Given the description of an element on the screen output the (x, y) to click on. 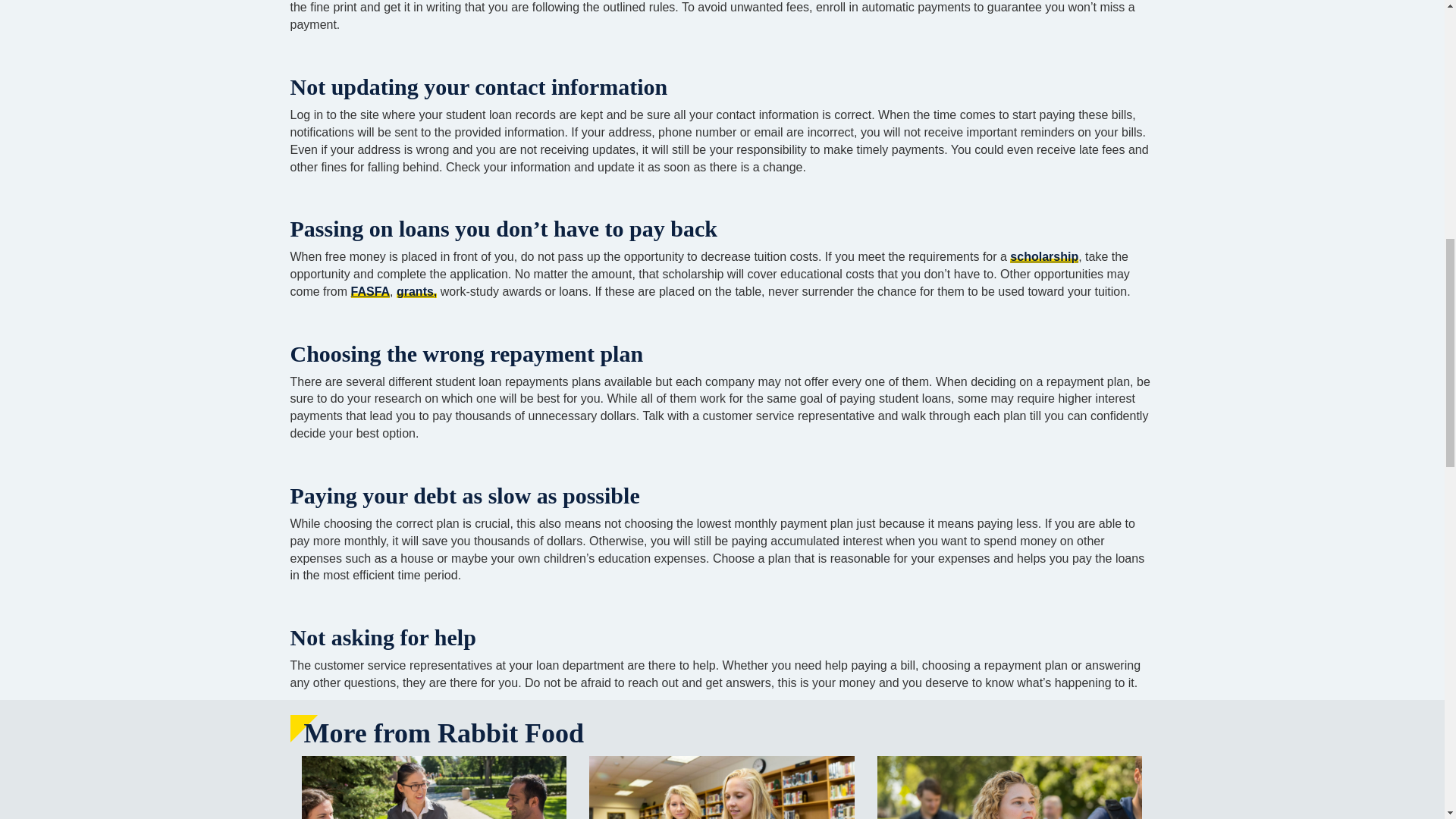
grants, (416, 291)
FASFA (370, 291)
scholarship (1044, 256)
